Given the description of an element on the screen output the (x, y) to click on. 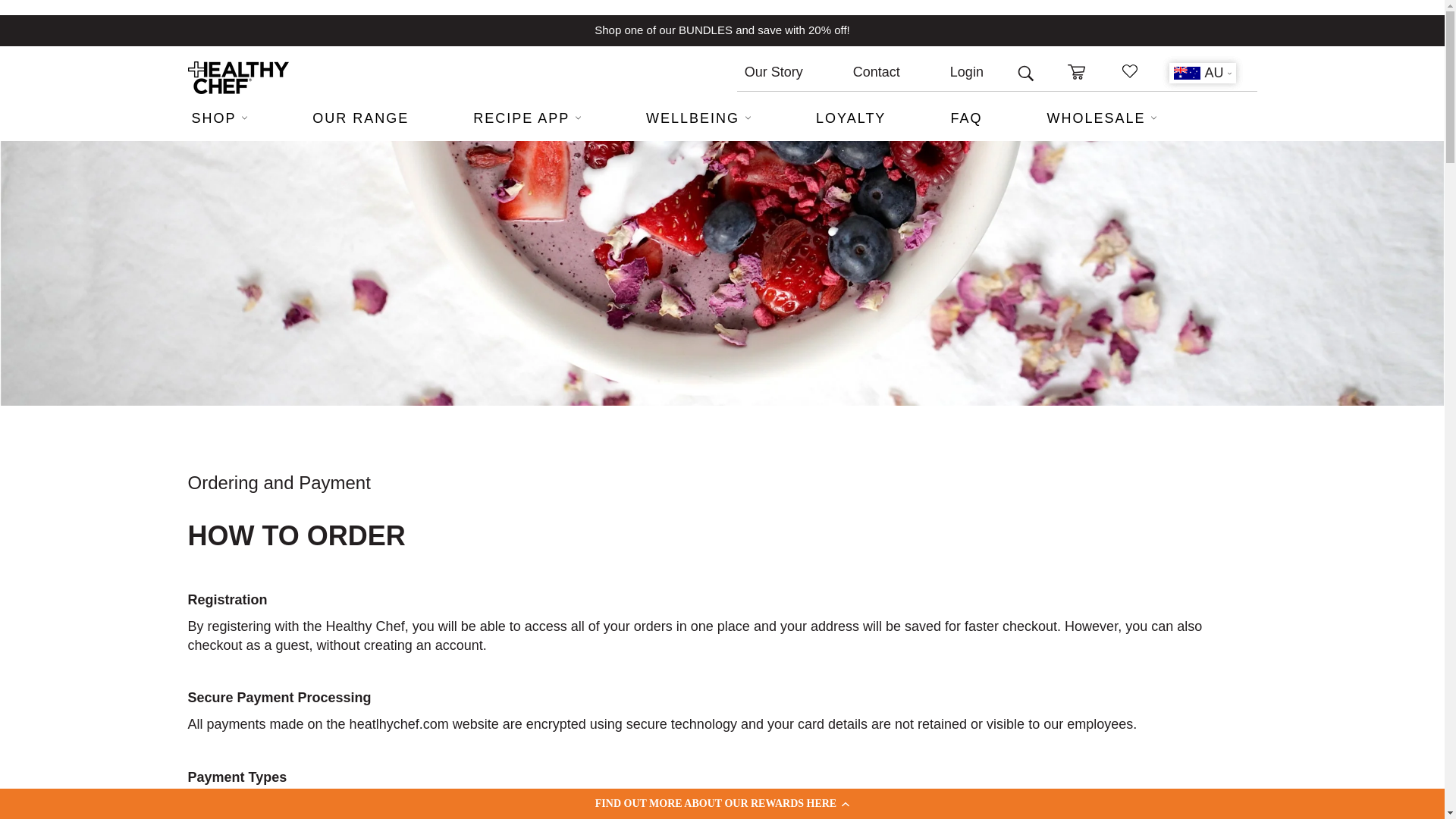
Health Supplement Bundles (705, 29)
